Given the description of an element on the screen output the (x, y) to click on. 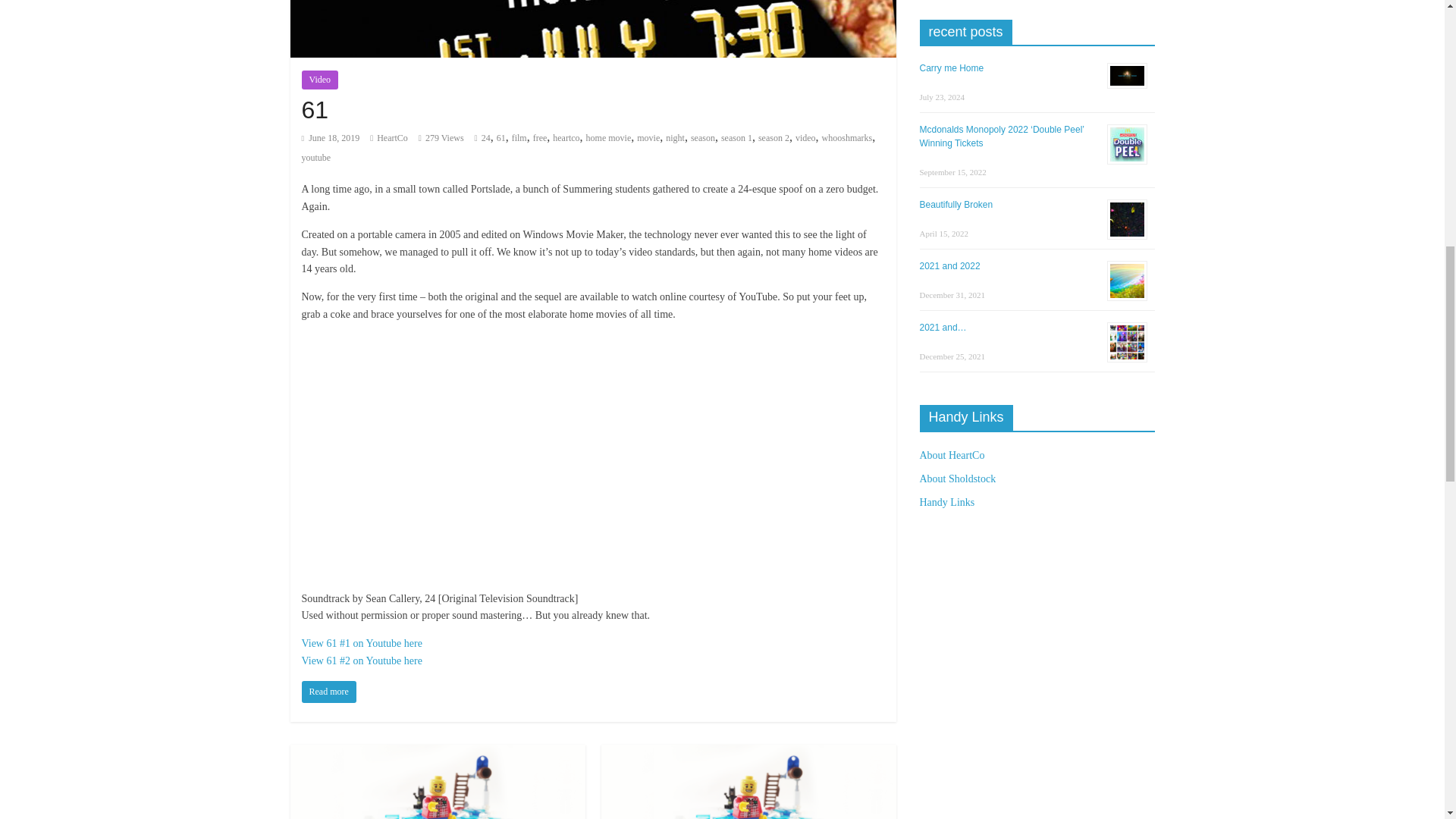
61 (315, 109)
3:30 pm (330, 137)
61 (328, 691)
LEGO Ice Bucket Challenge (748, 753)
HeartCo (392, 137)
Ice Bucket Challenge Fallout (437, 753)
